Given the description of an element on the screen output the (x, y) to click on. 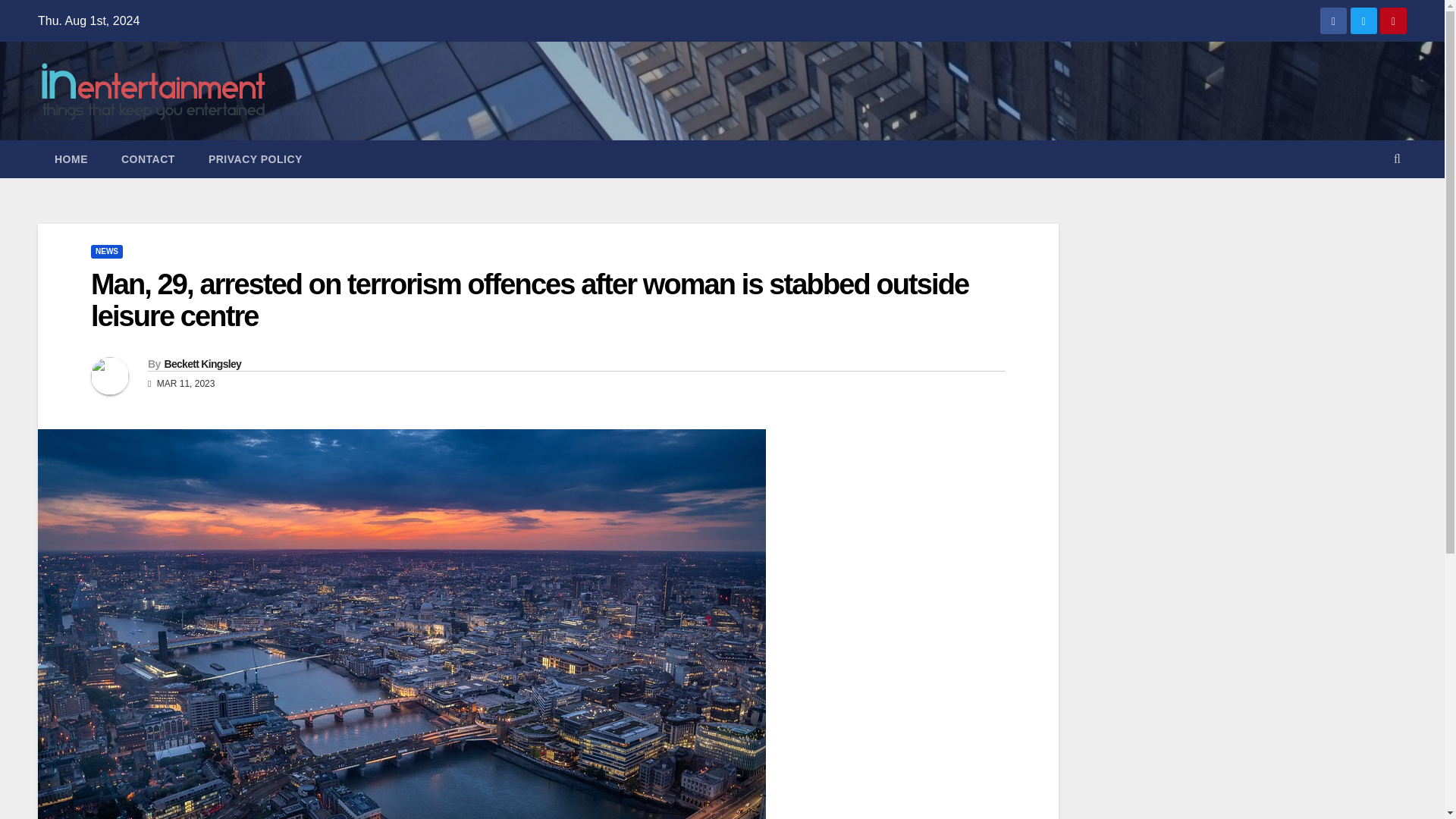
NEWS (106, 251)
Beckett Kingsley (202, 363)
CONTACT (148, 159)
HOME (70, 159)
Home (70, 159)
PRIVACY POLICY (255, 159)
